Given the description of an element on the screen output the (x, y) to click on. 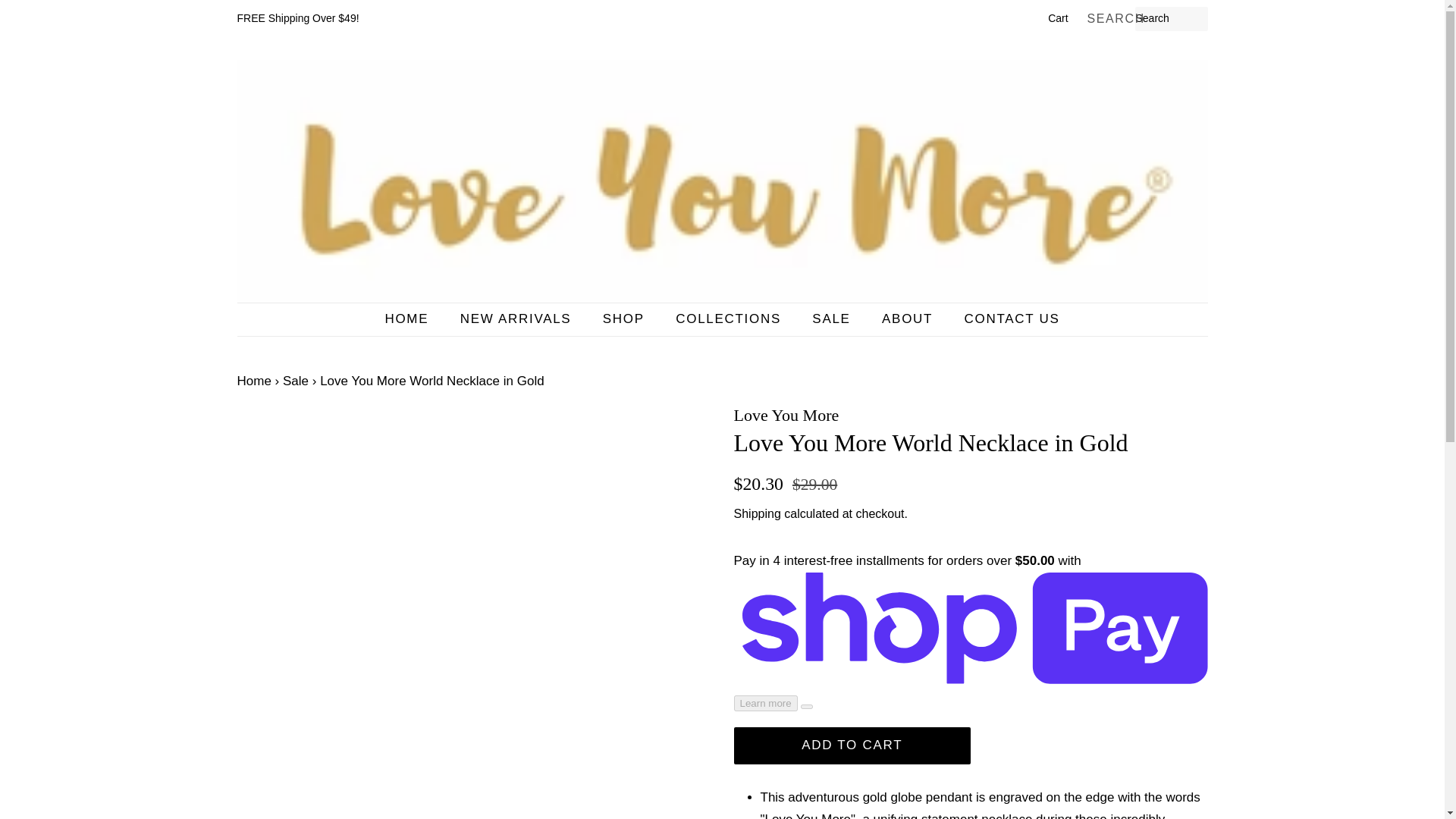
Cart (1057, 18)
Back to the frontpage (252, 380)
SEARCH (1110, 18)
